Given the description of an element on the screen output the (x, y) to click on. 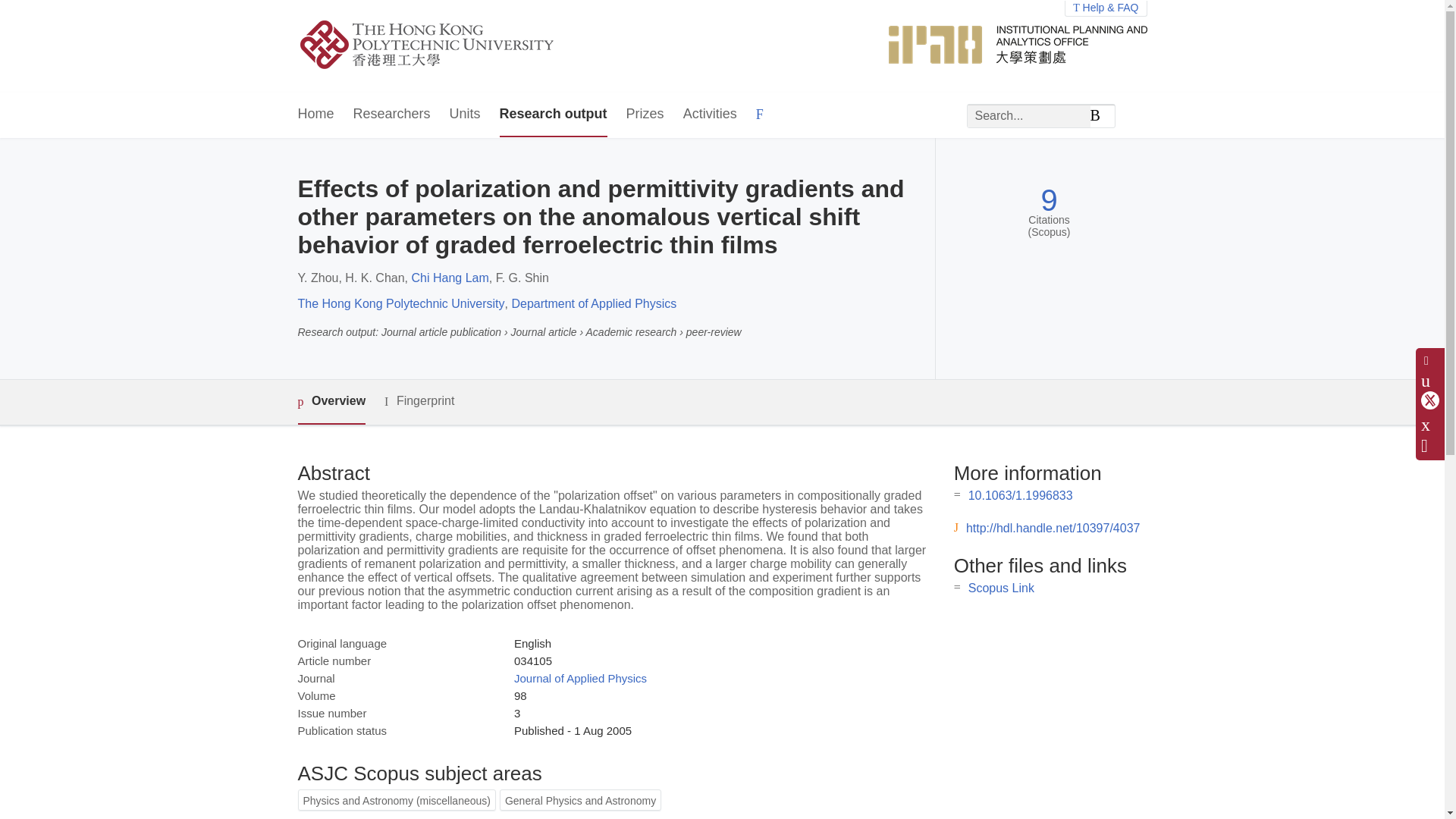
Scopus Link (1000, 587)
Journal of Applied Physics (579, 677)
Fingerprint (419, 401)
Researchers (391, 114)
Chi Hang Lam (450, 277)
Department of Applied Physics (594, 303)
Overview (331, 402)
PolyU Scholars Hub Home (444, 46)
The Hong Kong Polytechnic University (400, 303)
Activities (709, 114)
Research output (553, 114)
